Given the description of an element on the screen output the (x, y) to click on. 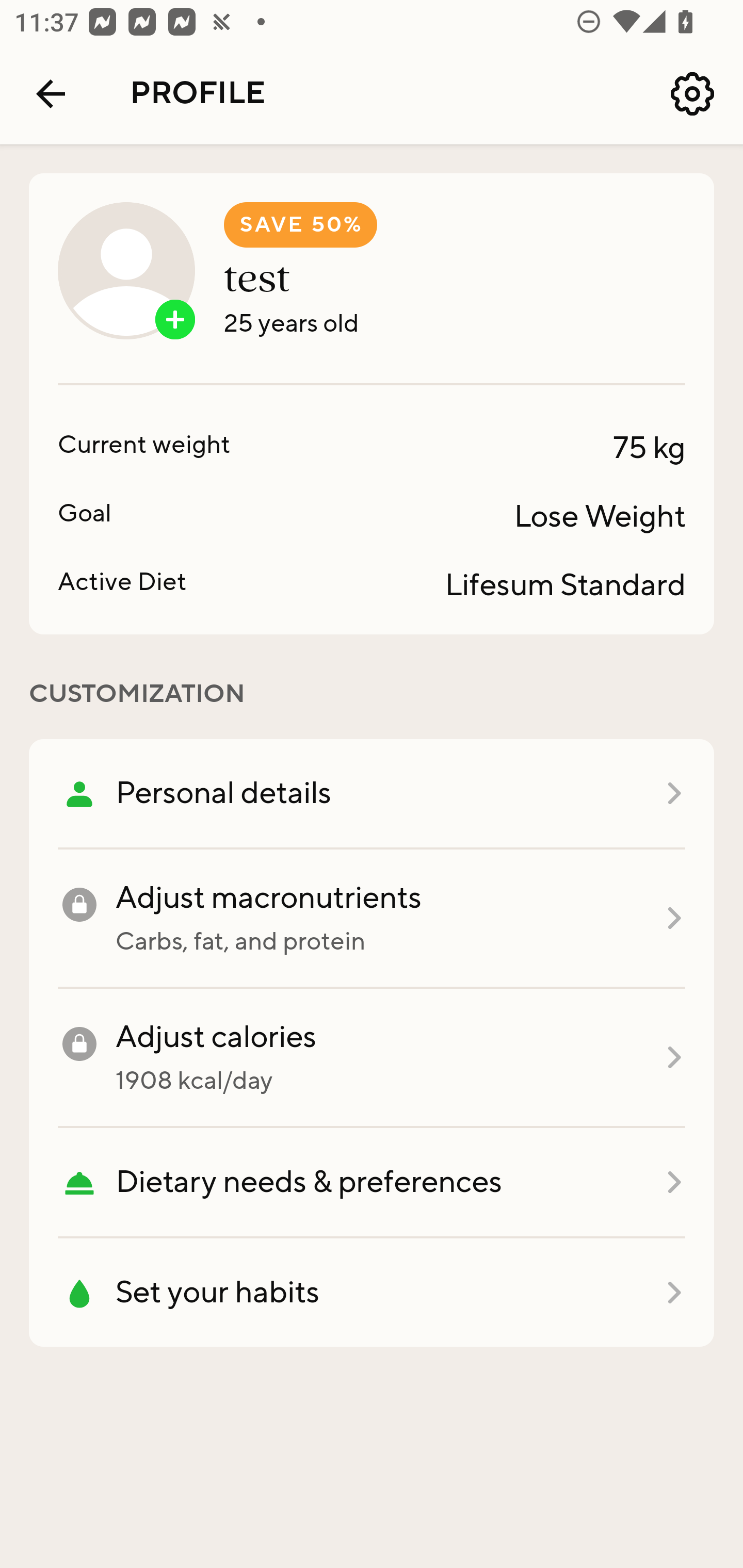
Back (50, 93)
settings (692, 93)
SAVE 50% (300, 224)
profile picture edit_background (125, 270)
Personal details (371, 793)
Adjust macronutrients Carbs, fat, and protein (371, 919)
Adjust calories 1908 kcal/day (371, 1058)
Dietary needs & preferences (371, 1182)
Set your habits (371, 1292)
